Given the description of an element on the screen output the (x, y) to click on. 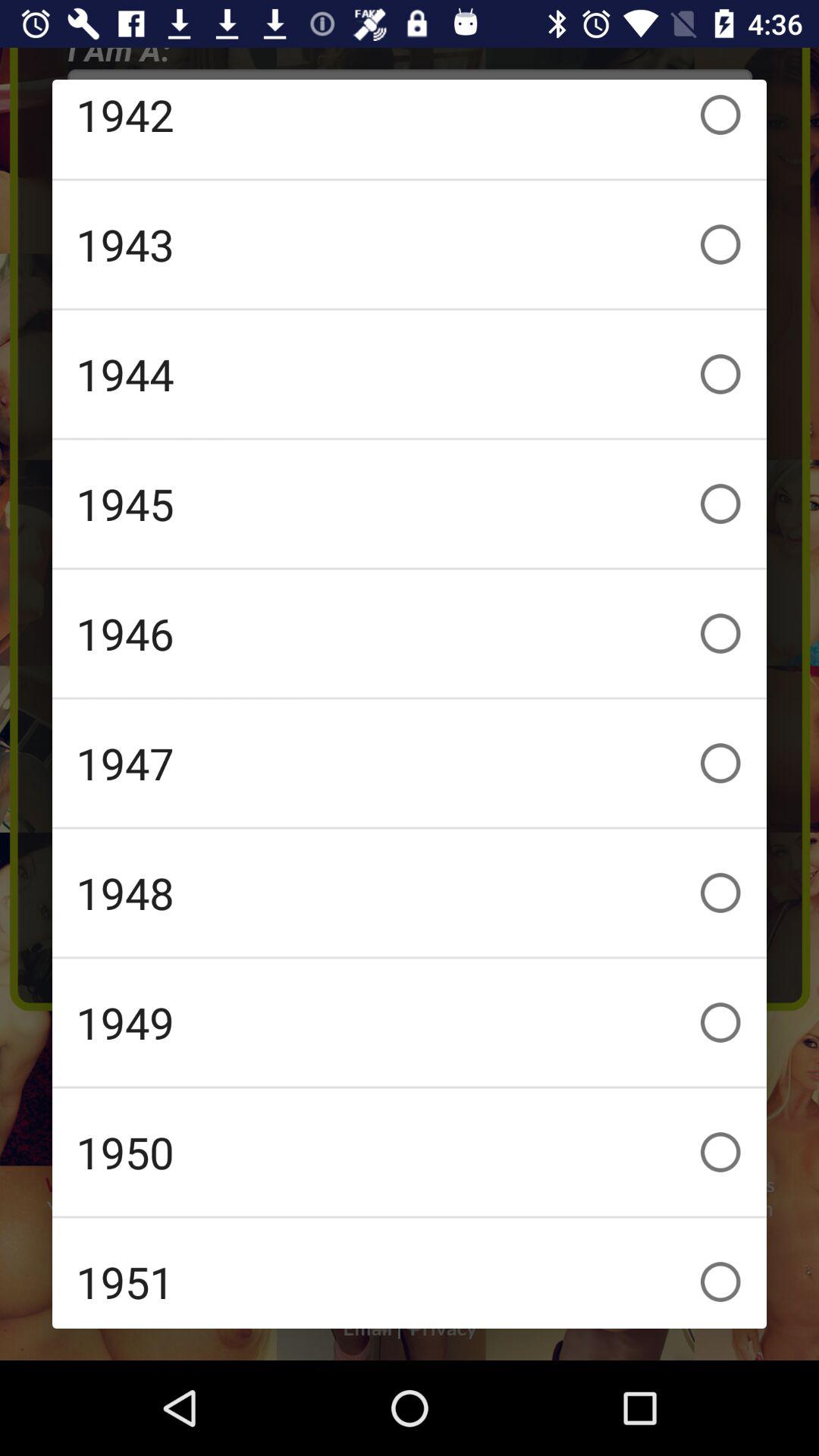
select item below 1942 (409, 244)
